Given the description of an element on the screen output the (x, y) to click on. 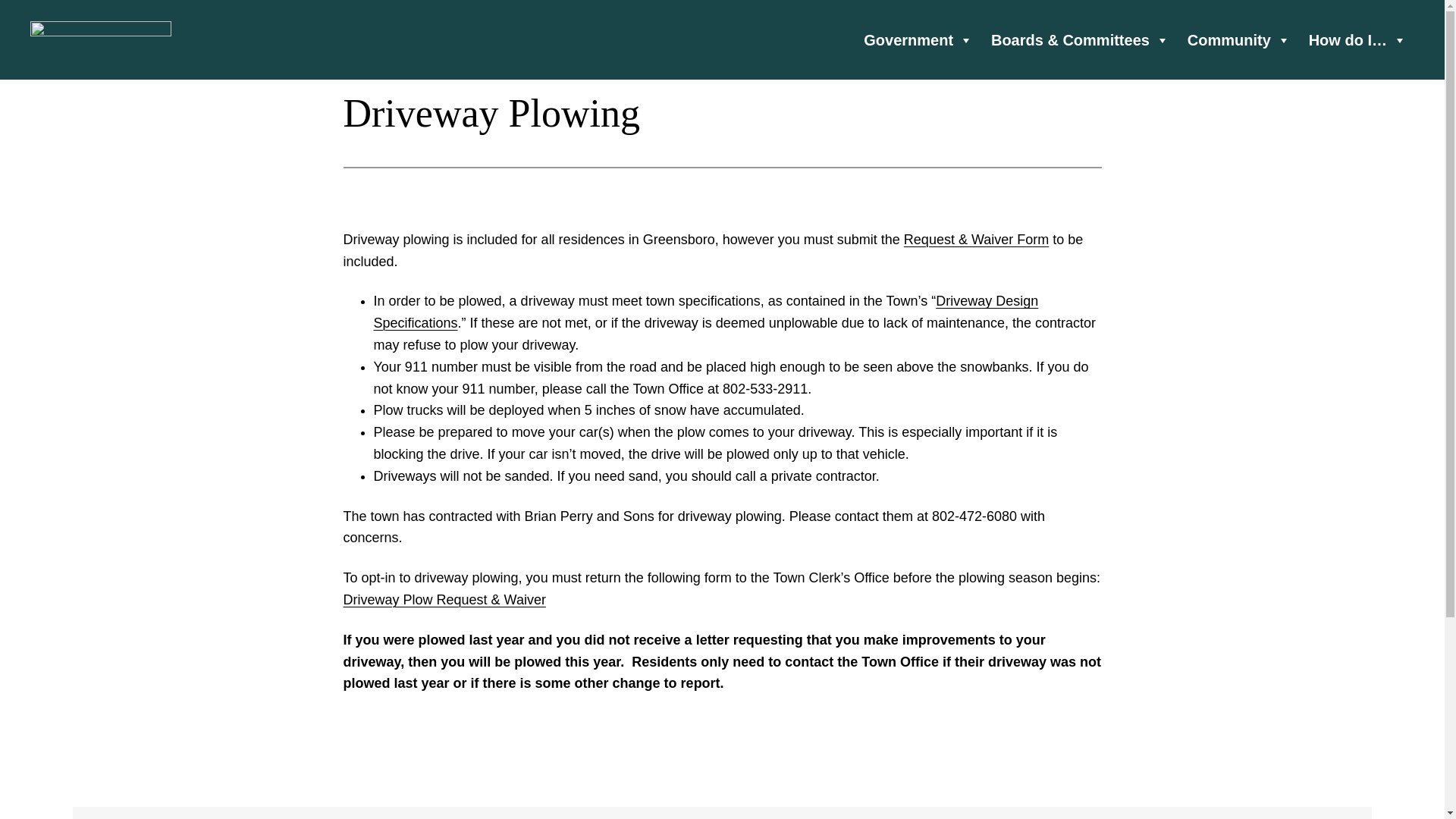
Home (100, 39)
Government (917, 39)
Community (1238, 39)
